Given the description of an element on the screen output the (x, y) to click on. 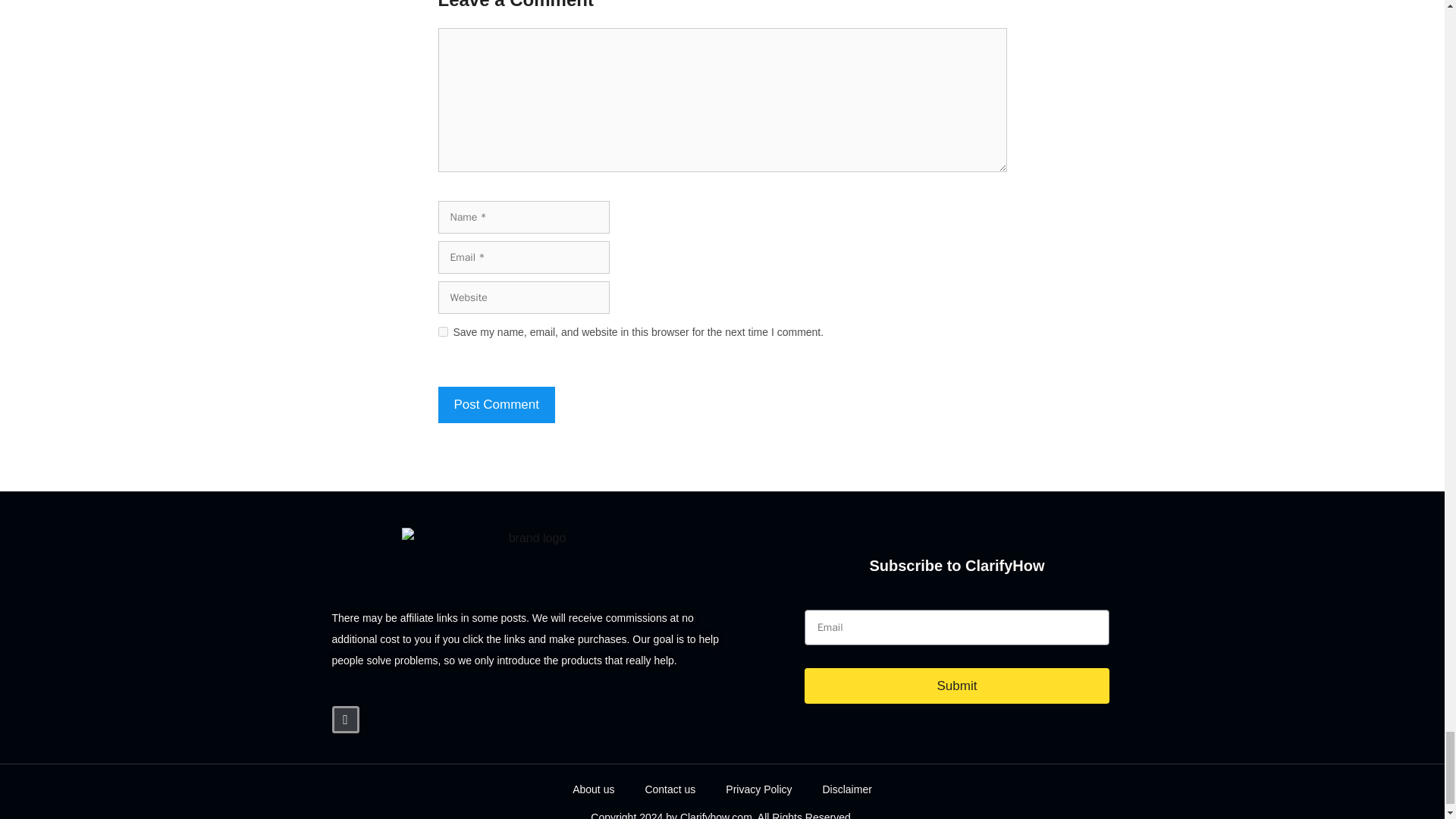
yes (443, 331)
Post Comment (496, 404)
